Given the description of an element on the screen output the (x, y) to click on. 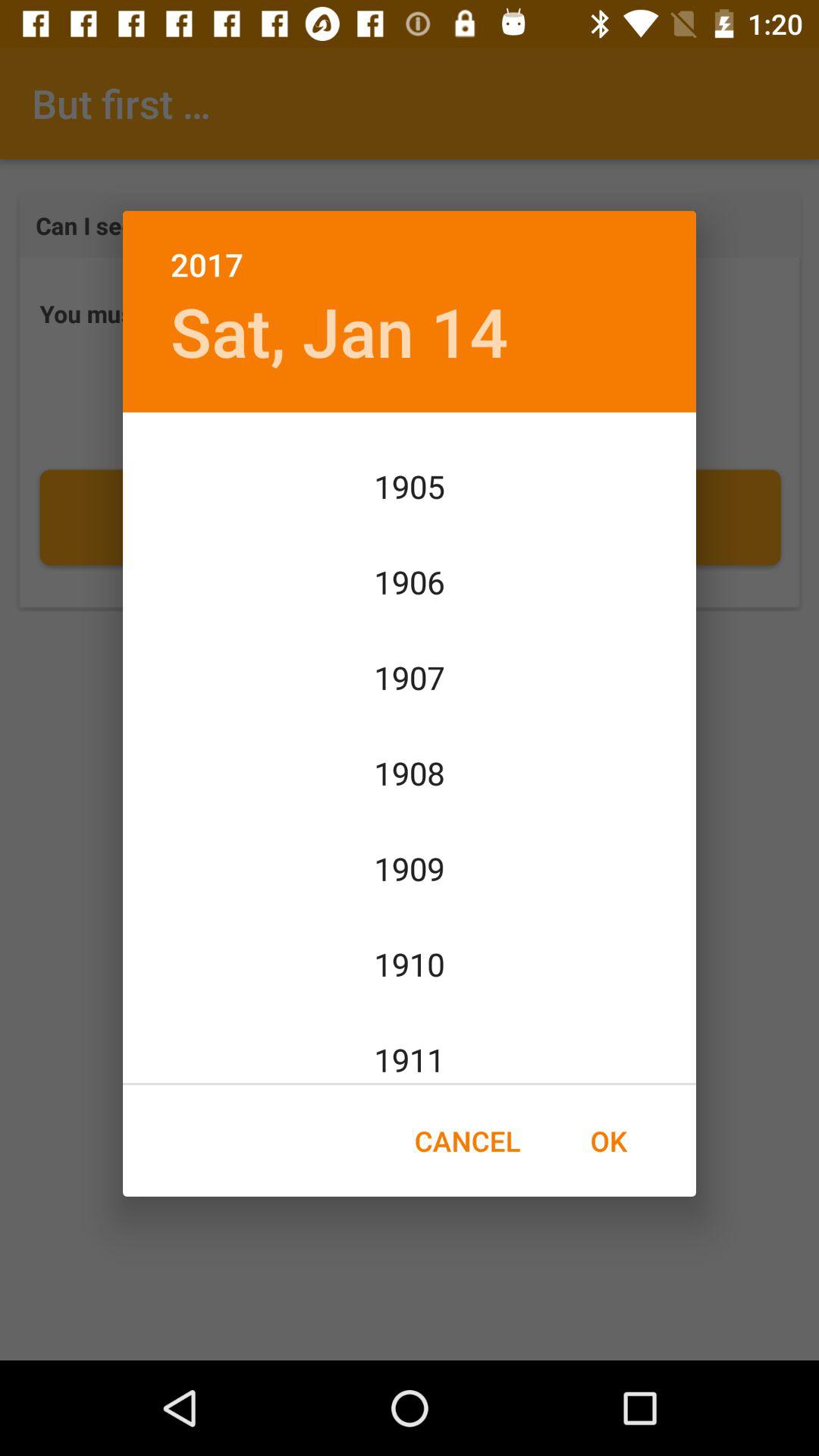
jump to the 2017 (409, 248)
